Given the description of an element on the screen output the (x, y) to click on. 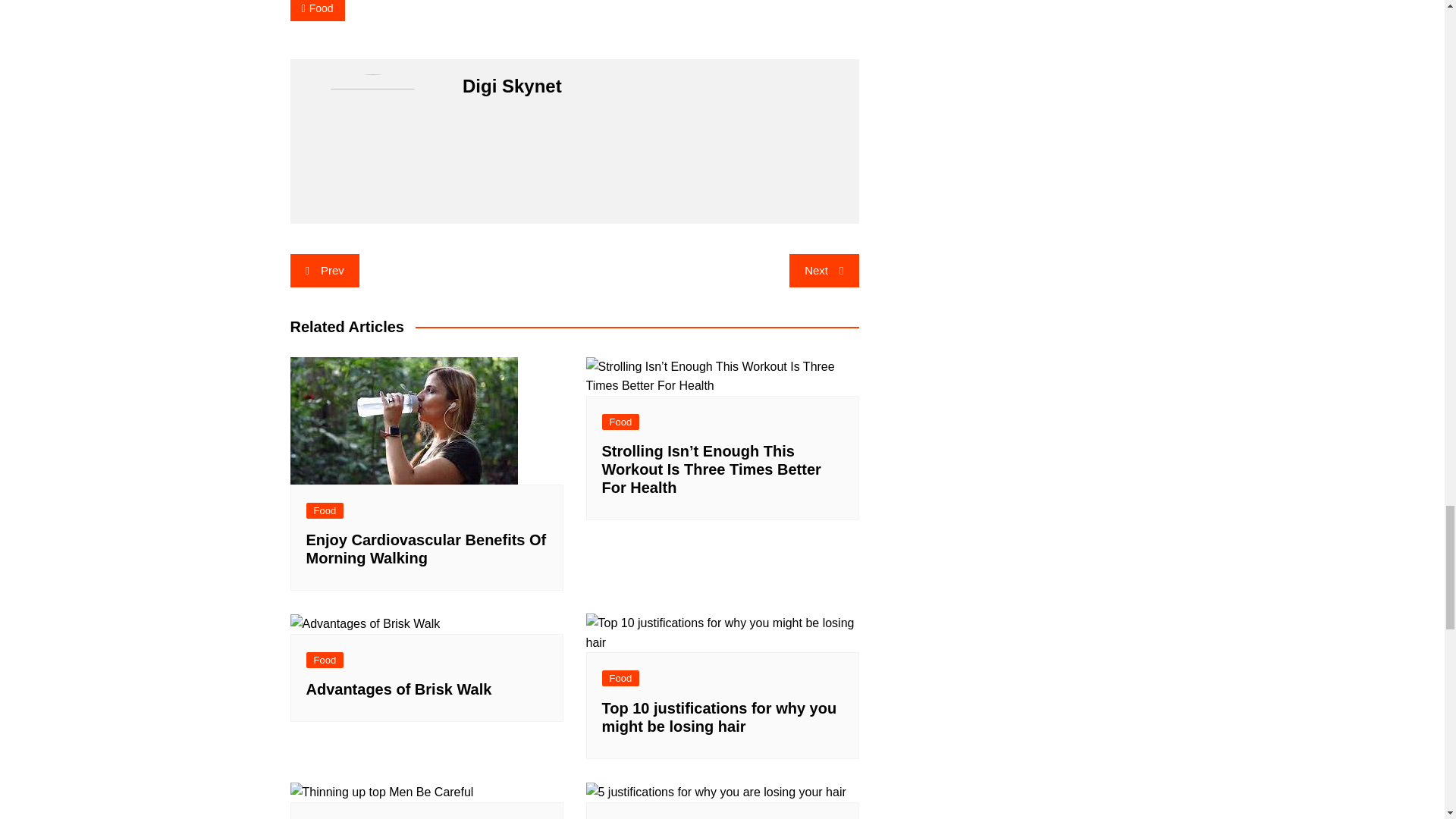
Prev (323, 270)
Next (824, 270)
Thinning up top Men Be Careful (381, 792)
Enjoy Cardiovascular Benefits Of Morning Walking (402, 420)
Top 10 justifications for why you might be losing hair (722, 632)
Advantages of Brisk Walk (364, 623)
5 justifications for why you are losing your hair (715, 792)
Food (316, 10)
